Given the description of an element on the screen output the (x, y) to click on. 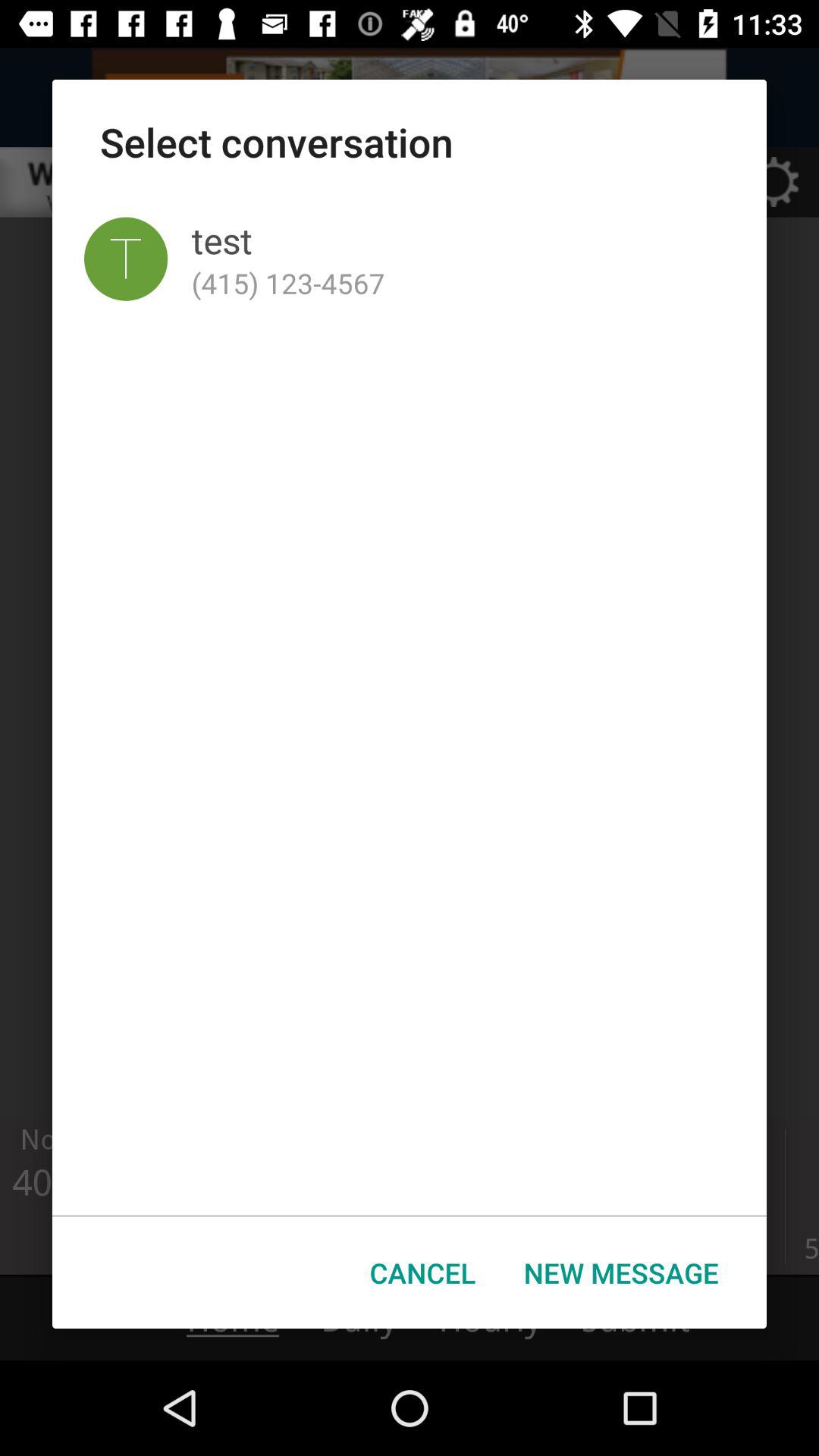
turn off the button to the right of the cancel item (620, 1272)
